Given the description of an element on the screen output the (x, y) to click on. 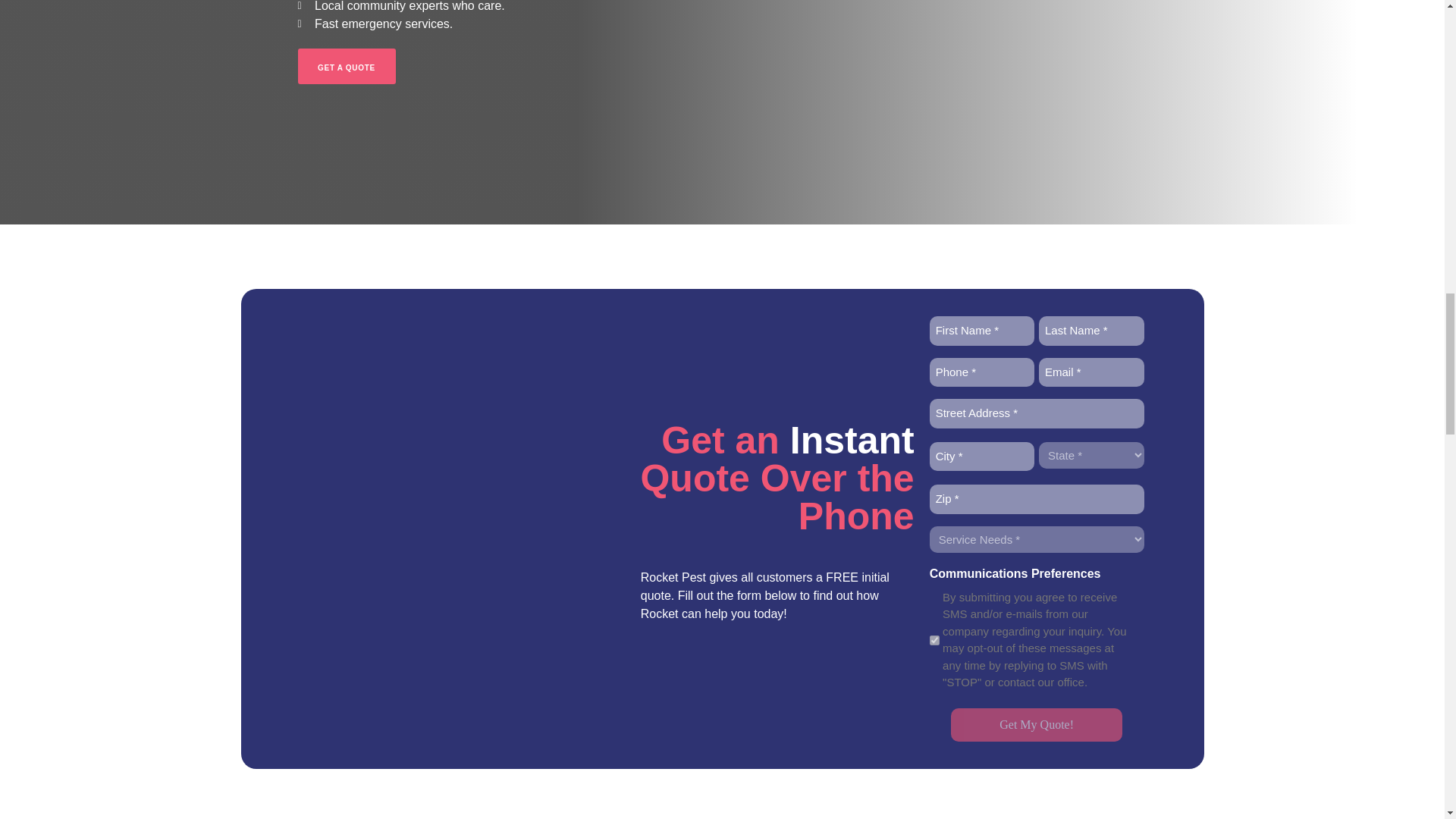
Get My Quote! (1036, 725)
